Given the description of an element on the screen output the (x, y) to click on. 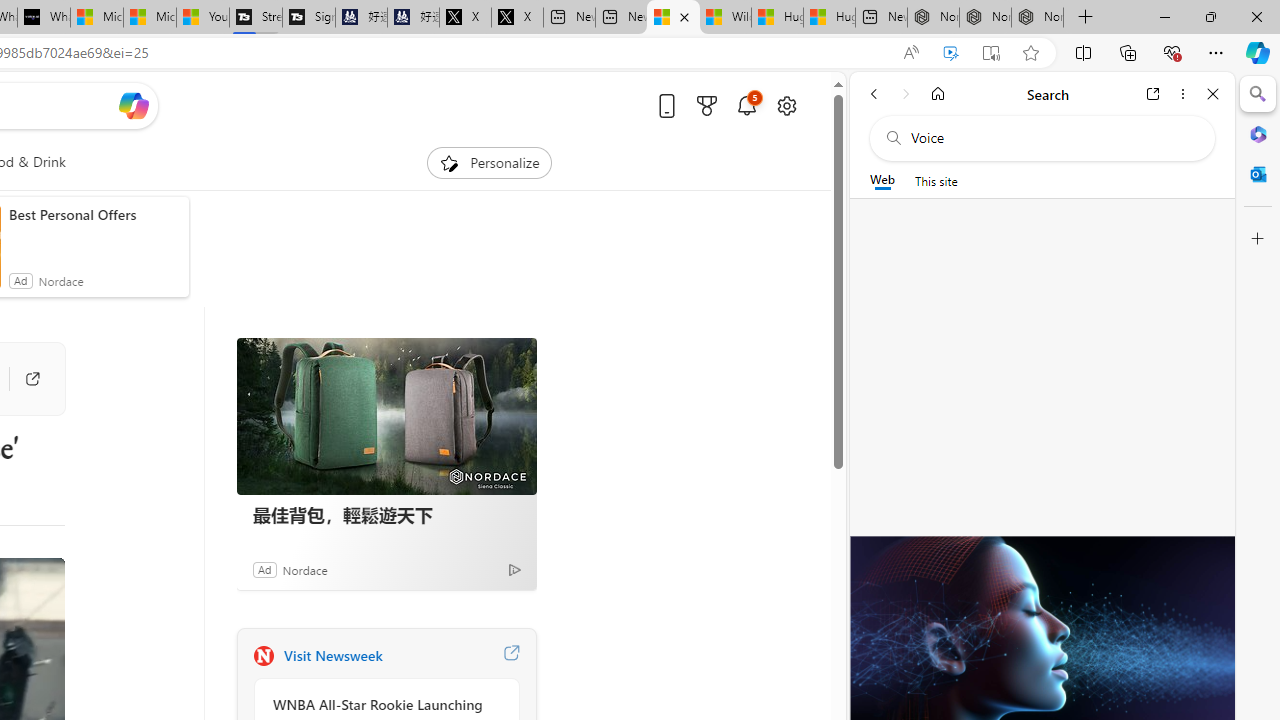
Microsoft 365 (1258, 133)
This site scope (936, 180)
Forward (906, 93)
Nordace Siena Pro 15 Backpack (985, 17)
Wildlife - MSN (725, 17)
Go to publisher's site (23, 378)
Open settings (786, 105)
Visit Newsweek website (511, 655)
